Given the description of an element on the screen output the (x, y) to click on. 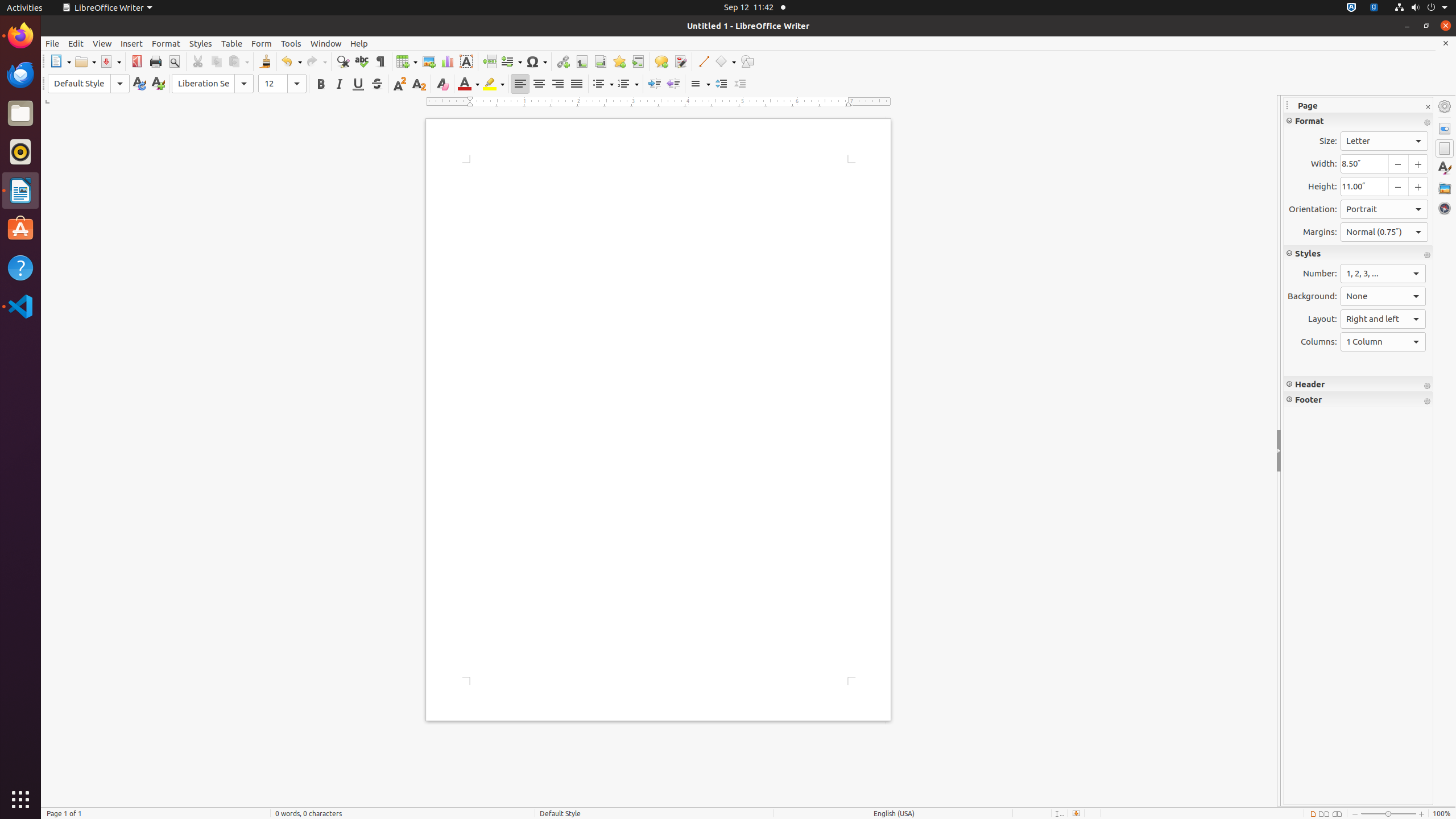
Bold Element type: toggle-button (320, 83)
Paragraph Style Element type: combo-box (88, 83)
Font Name Element type: combo-box (212, 83)
System Element type: menu (1420, 7)
Table Element type: push-button (406, 61)
